Given the description of an element on the screen output the (x, y) to click on. 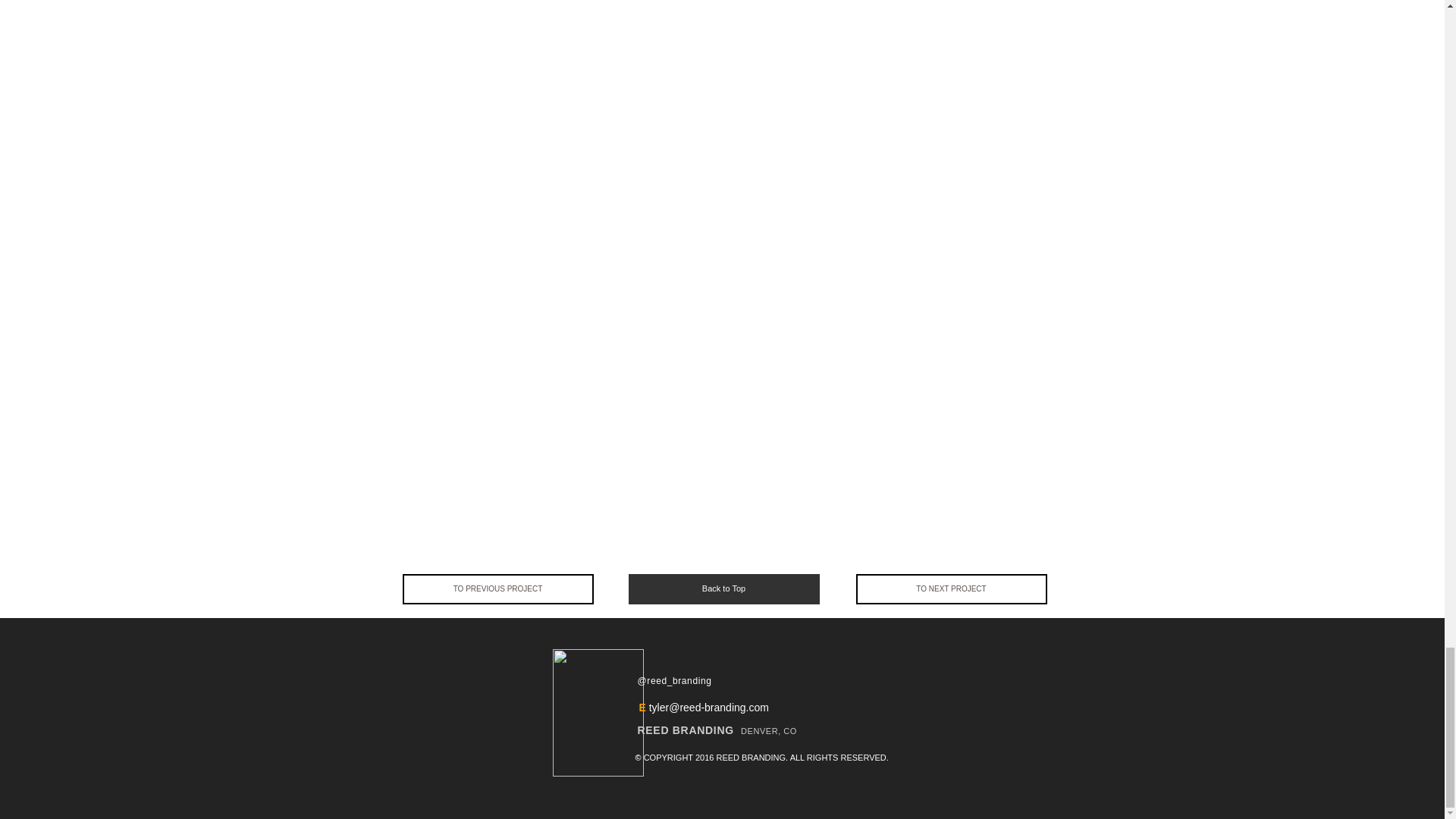
TO PREVIOUS PROJECT (496, 589)
Back to Top (722, 589)
TO NEXT PROJECT (951, 589)
